Given the description of an element on the screen output the (x, y) to click on. 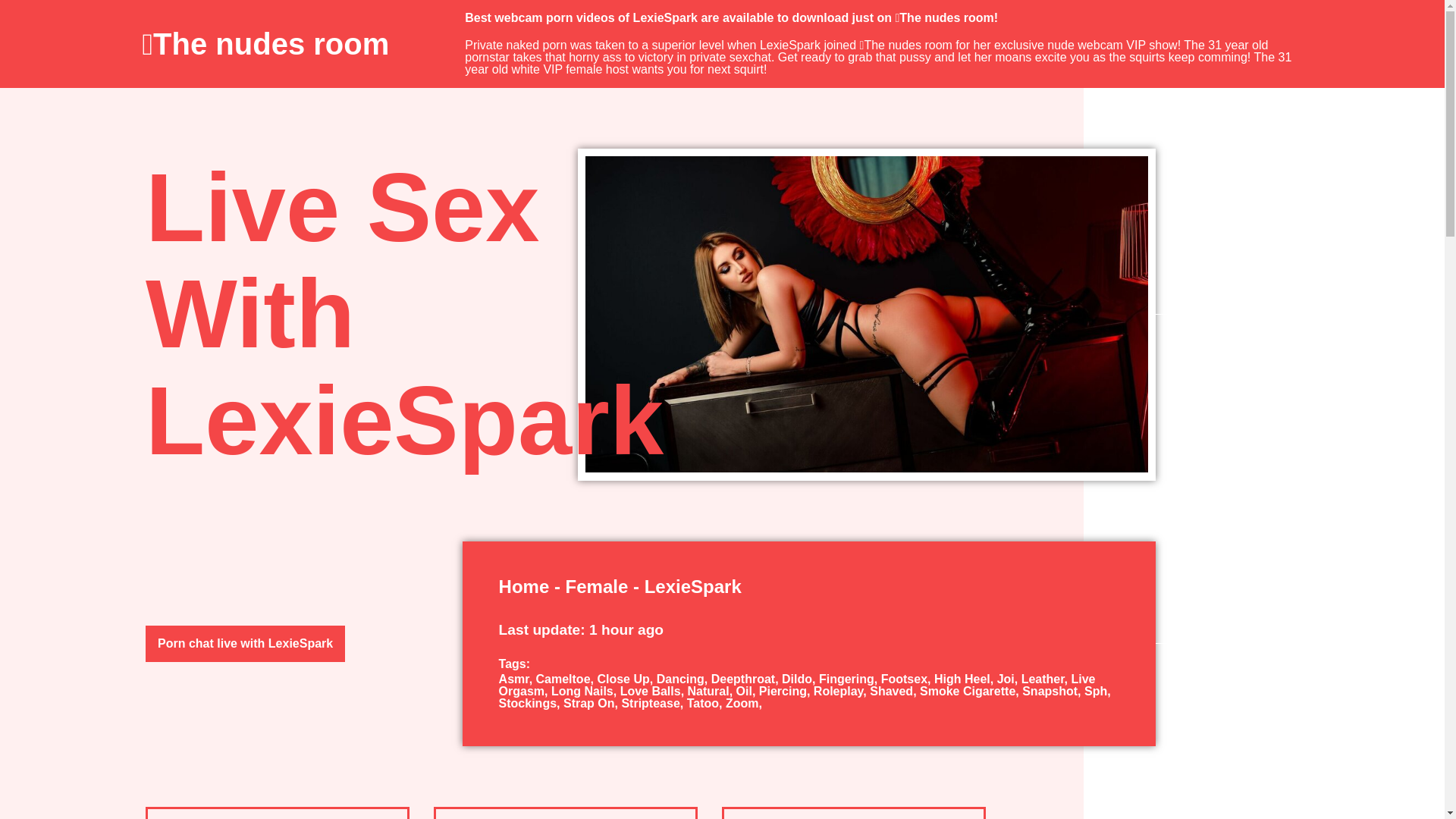
Dildo (799, 678)
Leather (1046, 678)
Live Orgasm (797, 684)
Roleplay (841, 690)
Snapshot (1053, 690)
Live Orgasm (797, 684)
Dancing (683, 678)
Leather (1046, 678)
Shaved (894, 690)
Deepthroat (746, 678)
Love Balls (653, 690)
Dildo (799, 678)
Love Balls (653, 690)
Sph (1097, 690)
Home (524, 586)
